Given the description of an element on the screen output the (x, y) to click on. 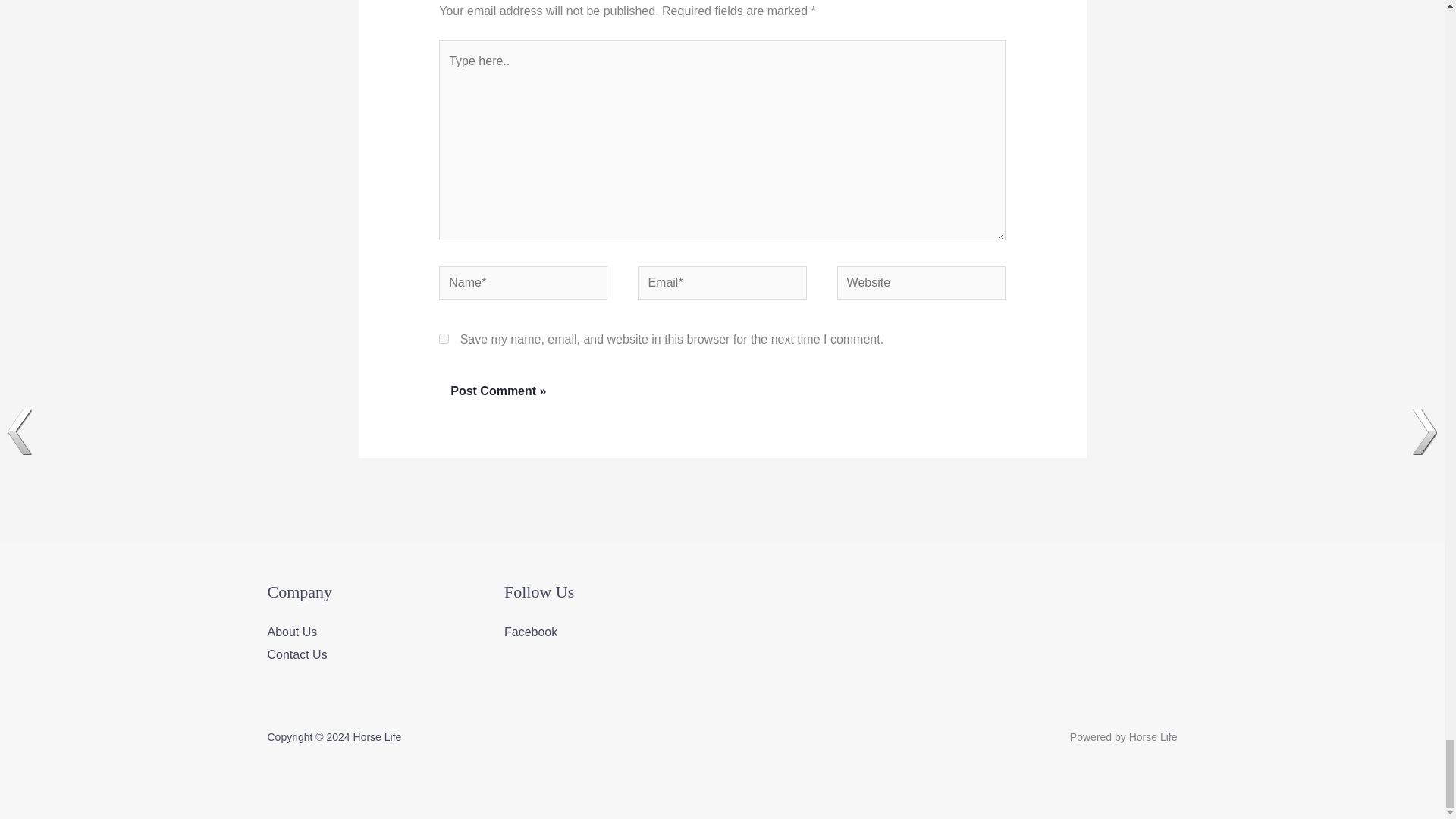
yes (443, 338)
